Given the description of an element on the screen output the (x, y) to click on. 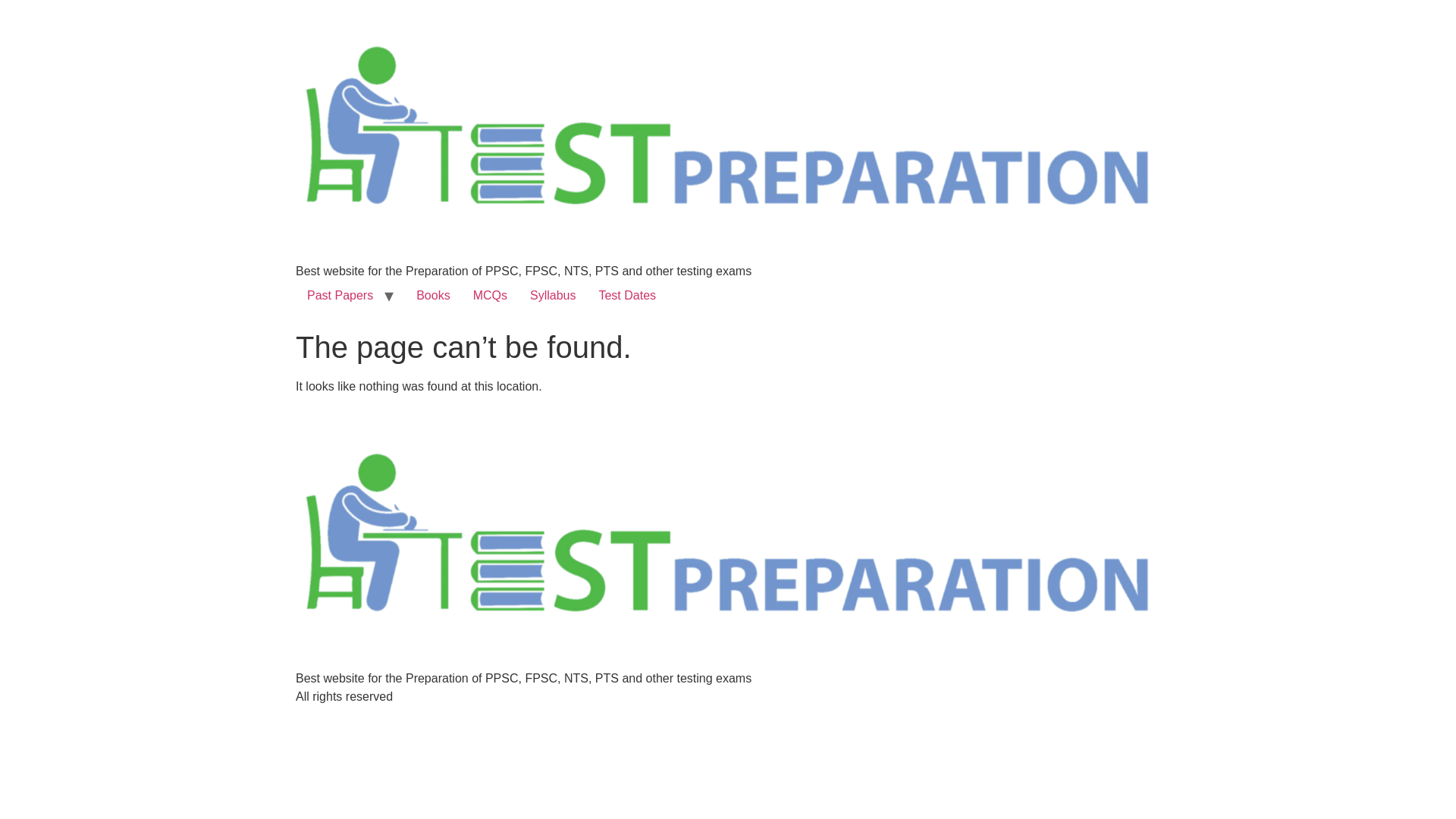
MCQs (489, 295)
Test Dates (626, 295)
Past Papers (339, 295)
Books (432, 295)
Syllabus (552, 295)
